Given the description of an element on the screen output the (x, y) to click on. 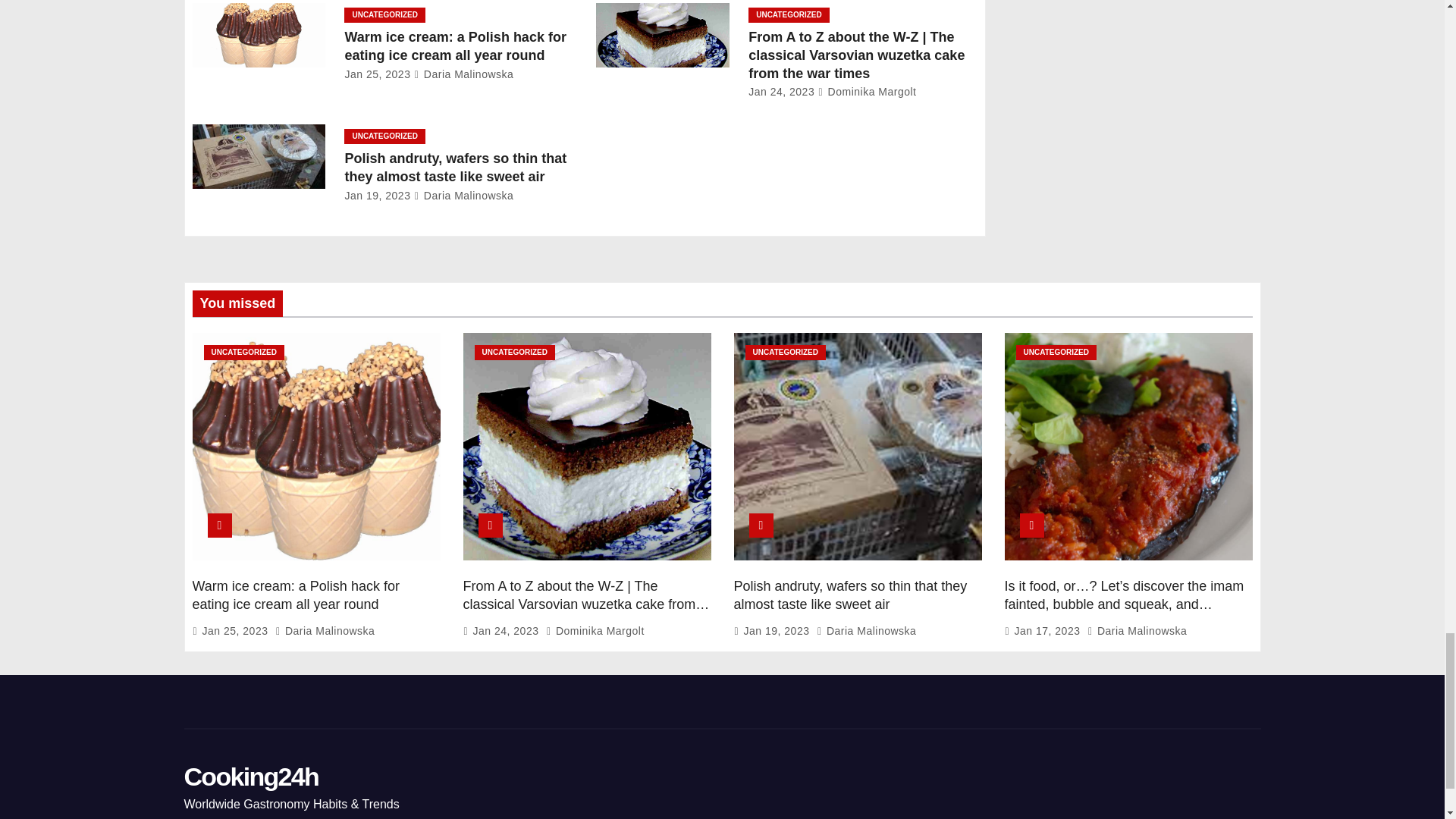
Jan 25, 2023 (376, 73)
Daria Malinowska (463, 73)
UNCATEGORIZED (384, 14)
